Given the description of an element on the screen output the (x, y) to click on. 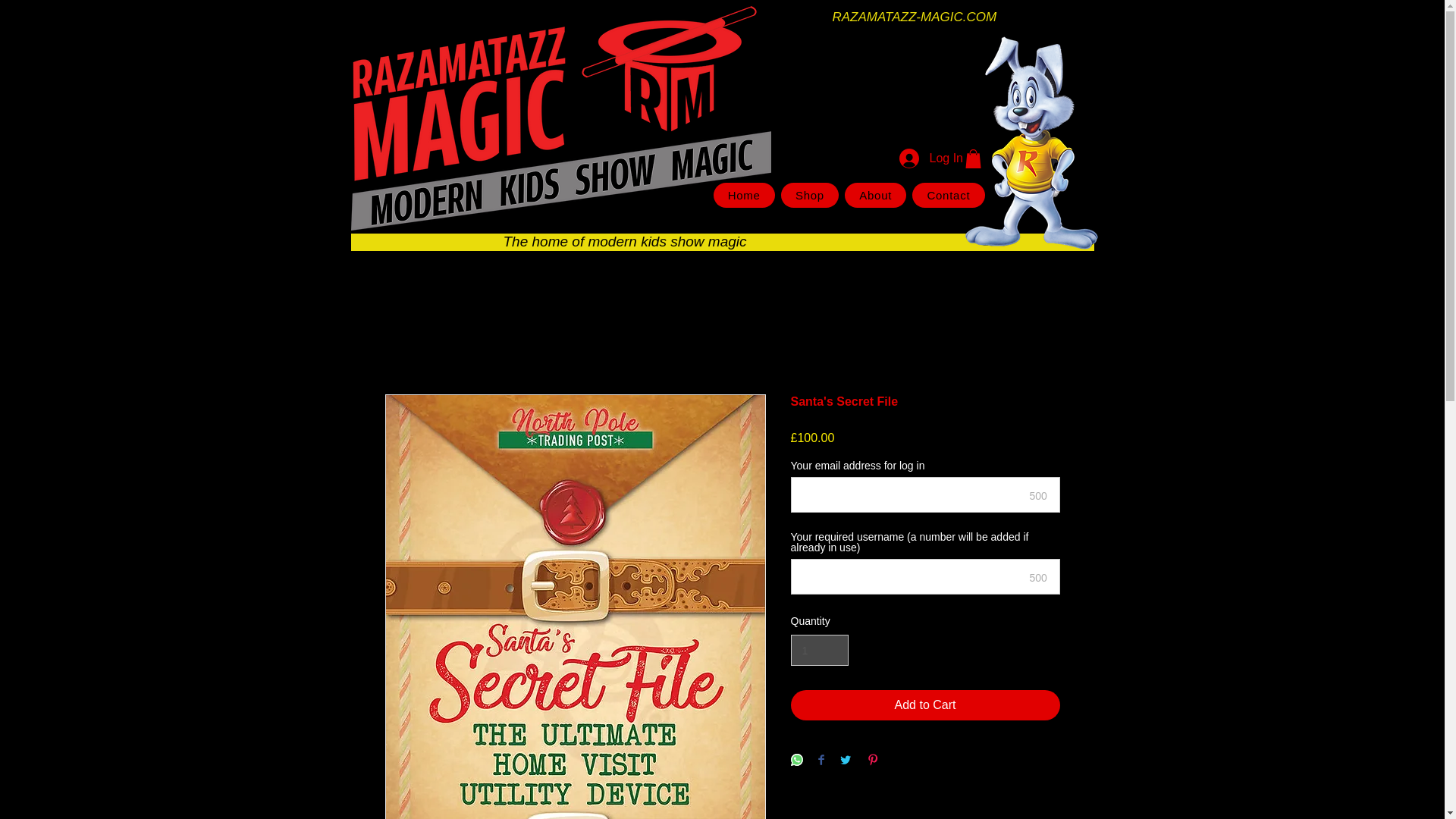
1 (818, 649)
Home (743, 195)
Add to Cart (924, 705)
Shop (809, 195)
Contact (948, 195)
About (874, 195)
Log In (918, 158)
